Given the description of an element on the screen output the (x, y) to click on. 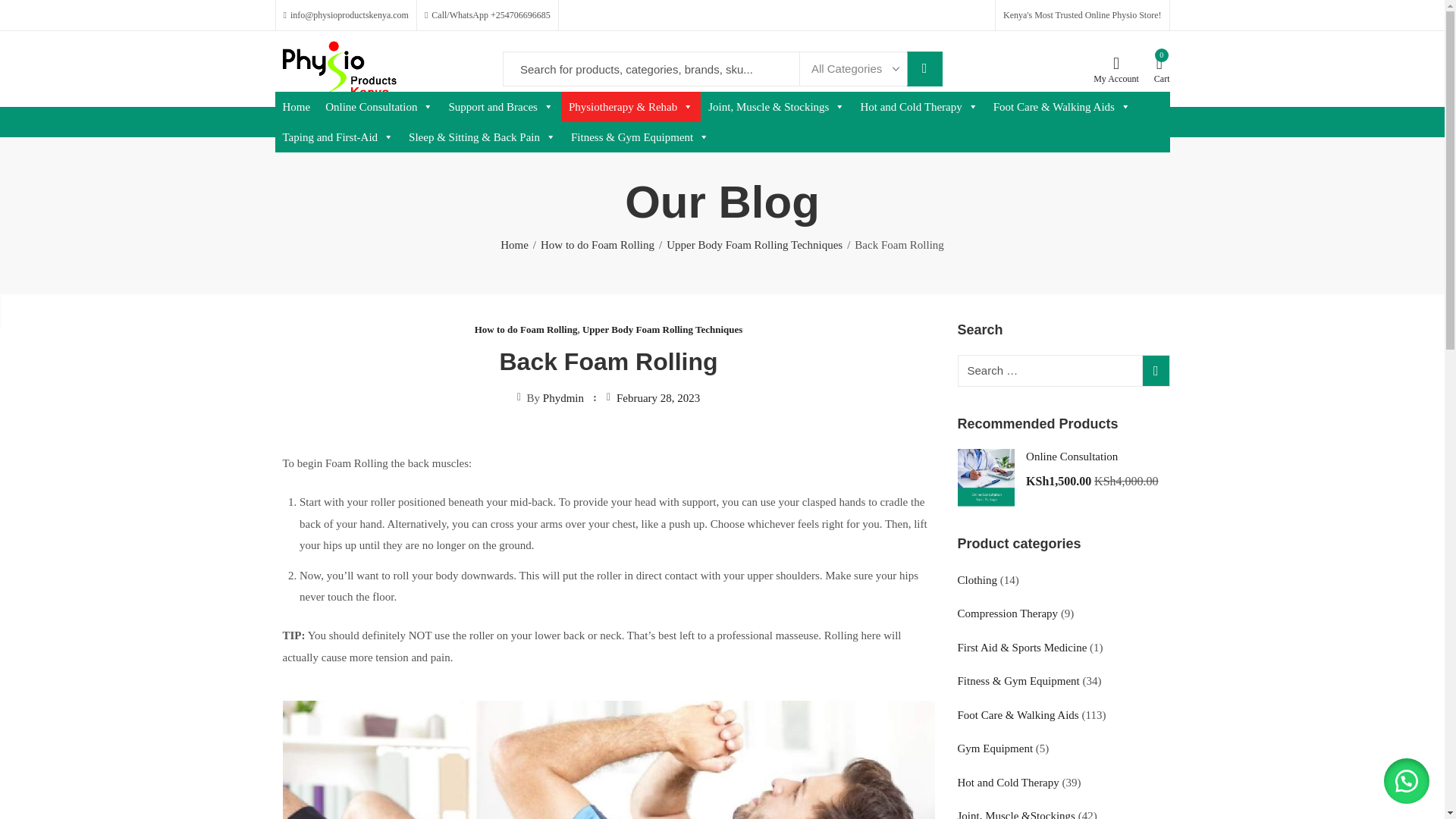
Home (296, 106)
Support and Braces (500, 106)
Posts by Phydmin (563, 398)
Online Consultation (379, 106)
My Account (1115, 69)
Search (924, 68)
